Given the description of an element on the screen output the (x, y) to click on. 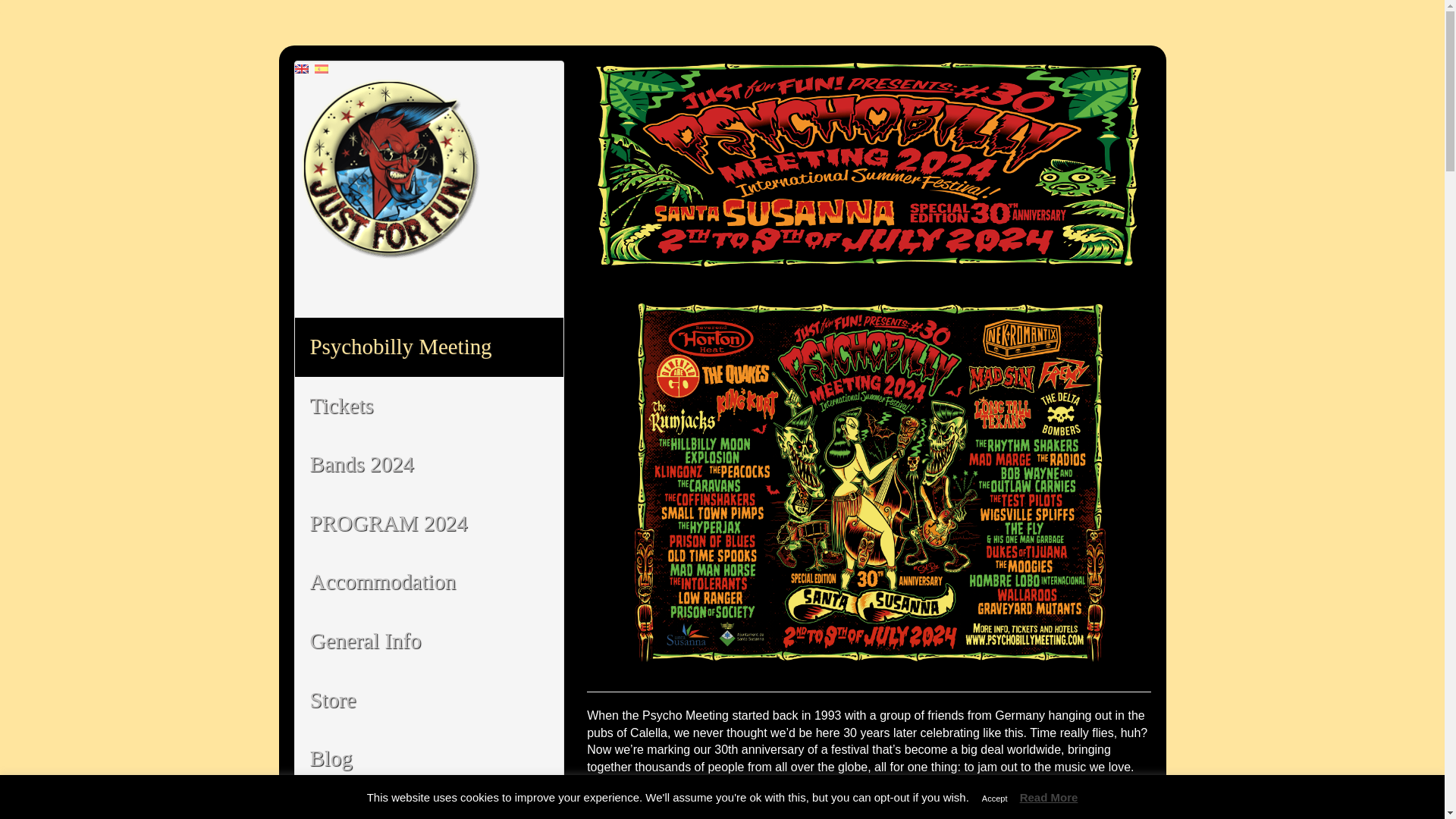
Tickets (428, 405)
General Info (428, 640)
PROGRAM 2024 (428, 523)
Accommodation (428, 581)
Psychobilly Meeting (428, 346)
Bands 2024 (428, 464)
